Given the description of an element on the screen output the (x, y) to click on. 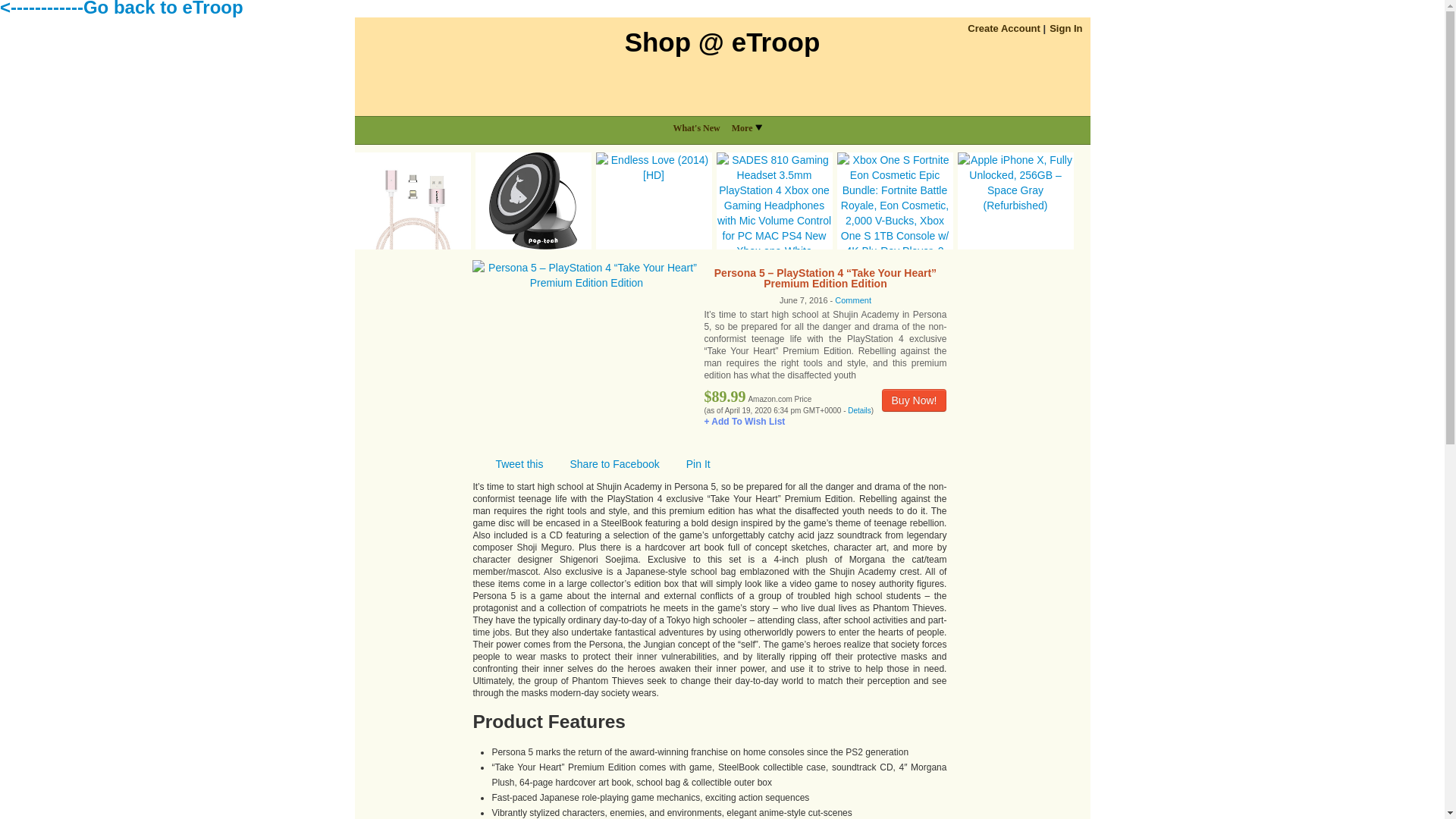
Tweet this (509, 462)
Create Account (1004, 28)
More (751, 127)
Pin It (688, 462)
What's New (701, 127)
Details (858, 410)
Comment (852, 299)
Buy Now! (914, 400)
